Given the description of an element on the screen output the (x, y) to click on. 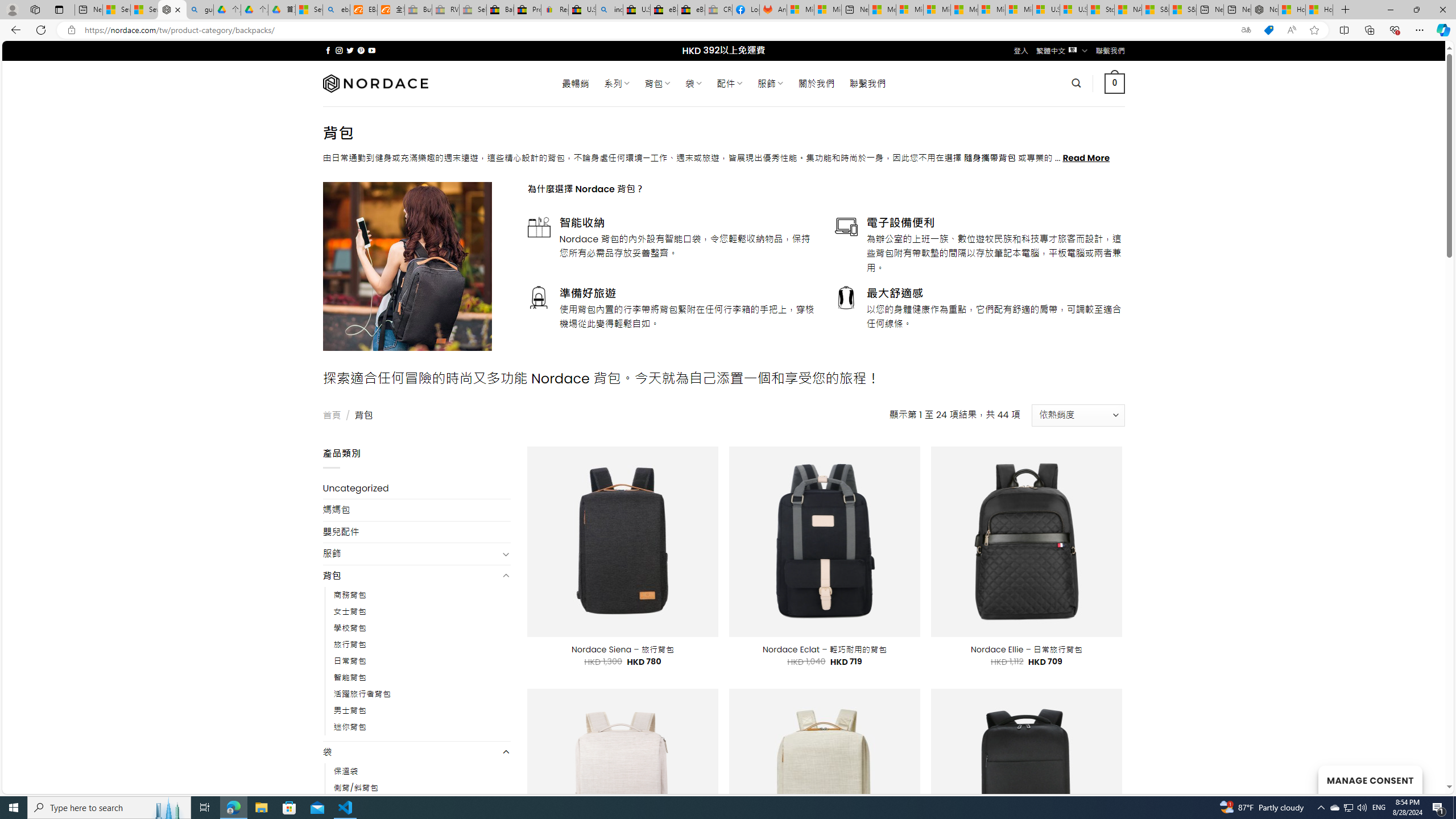
Press Room - eBay Inc. (527, 9)
Log into Facebook (746, 9)
Microsoft account | Privacy (909, 9)
Uncategorized (416, 488)
